Given the description of an element on the screen output the (x, y) to click on. 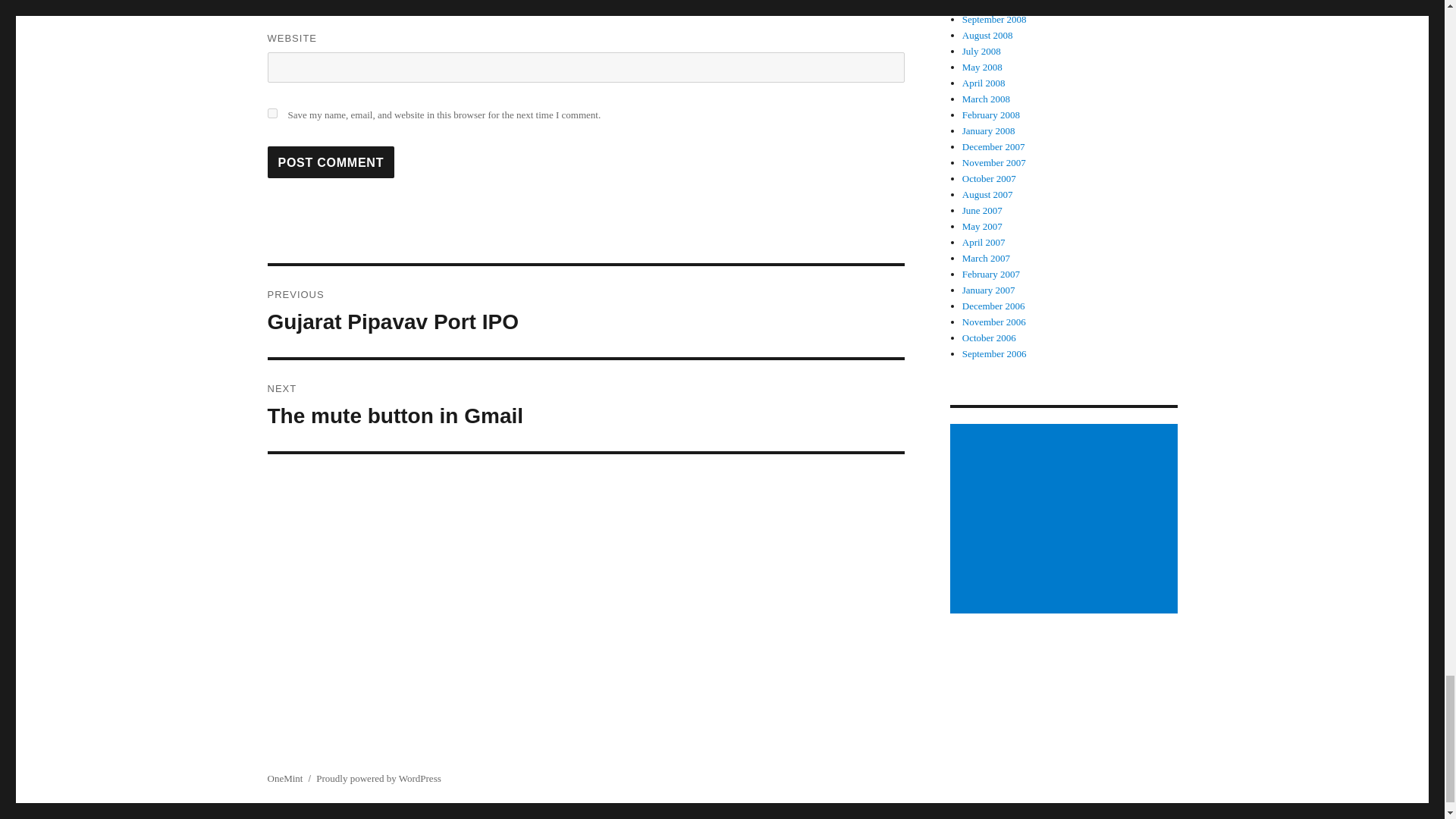
Post Comment (330, 162)
Post Comment (585, 405)
yes (330, 162)
